Given the description of an element on the screen output the (x, y) to click on. 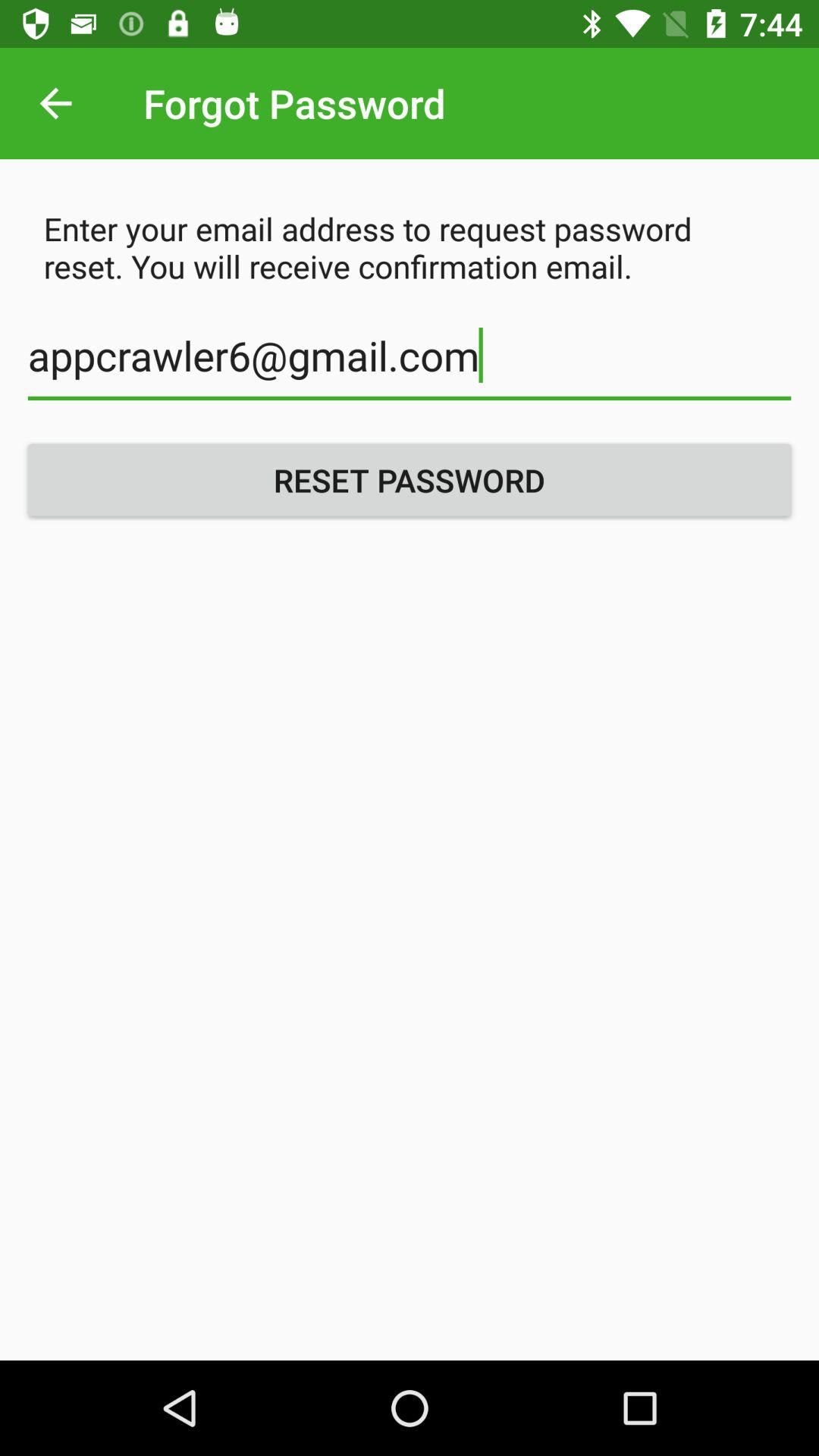
choose the item above the reset password icon (409, 363)
